Given the description of an element on the screen output the (x, y) to click on. 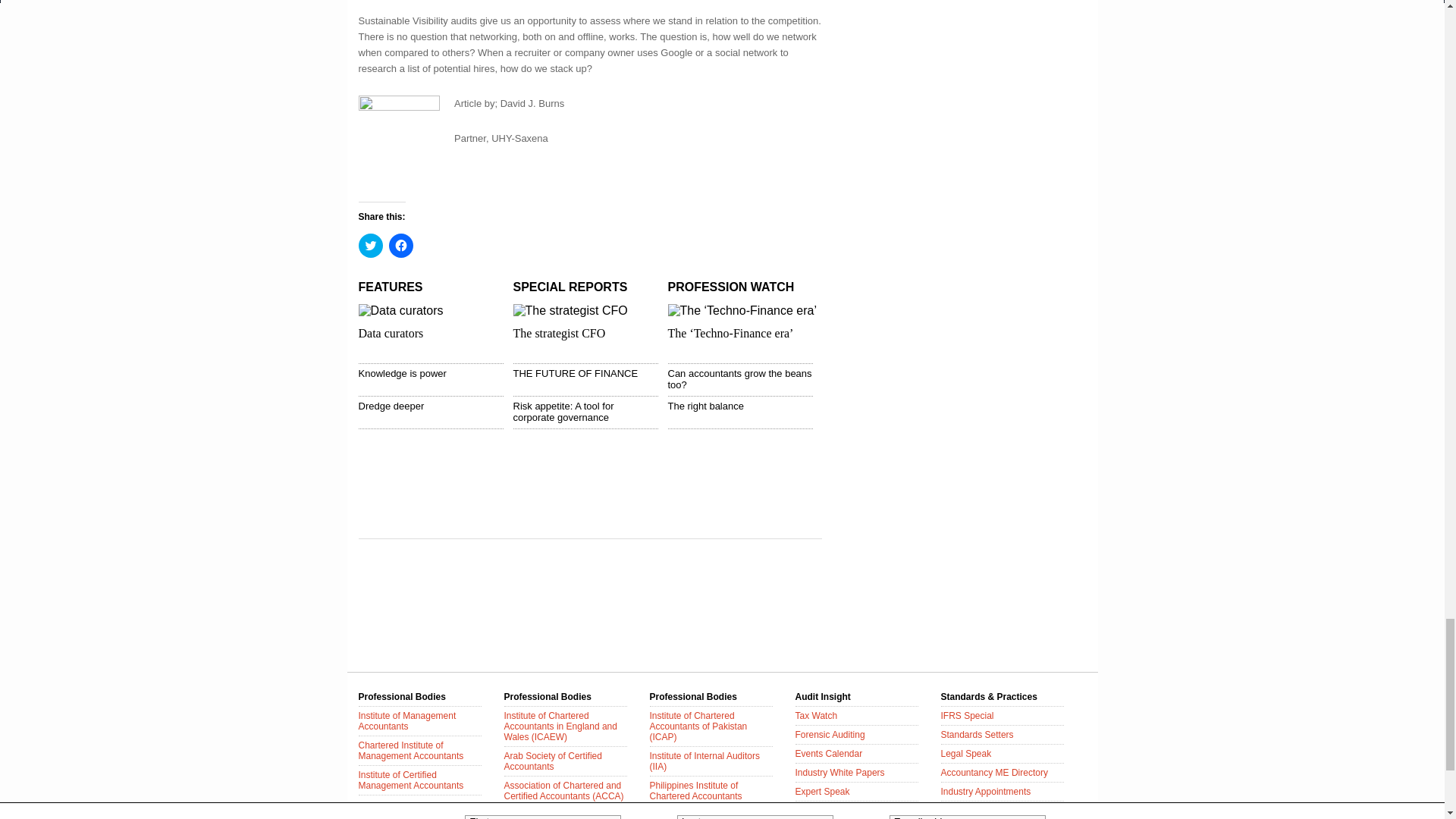
FEATURES (390, 286)
The right balance (704, 405)
Click to share on Facebook (400, 245)
Knowledge is power (401, 373)
Data curators (390, 332)
Dredge deeper (390, 405)
Click to share on Twitter (369, 245)
THE FUTURE OF FINANCE (574, 373)
PROFESSION WATCH (729, 286)
Risk appetite: A tool for corporate governance (562, 411)
The strategist CFO (558, 332)
SPECIAL REPORTS (569, 286)
Can accountants grow the beans too? (738, 378)
